Given the description of an element on the screen output the (x, y) to click on. 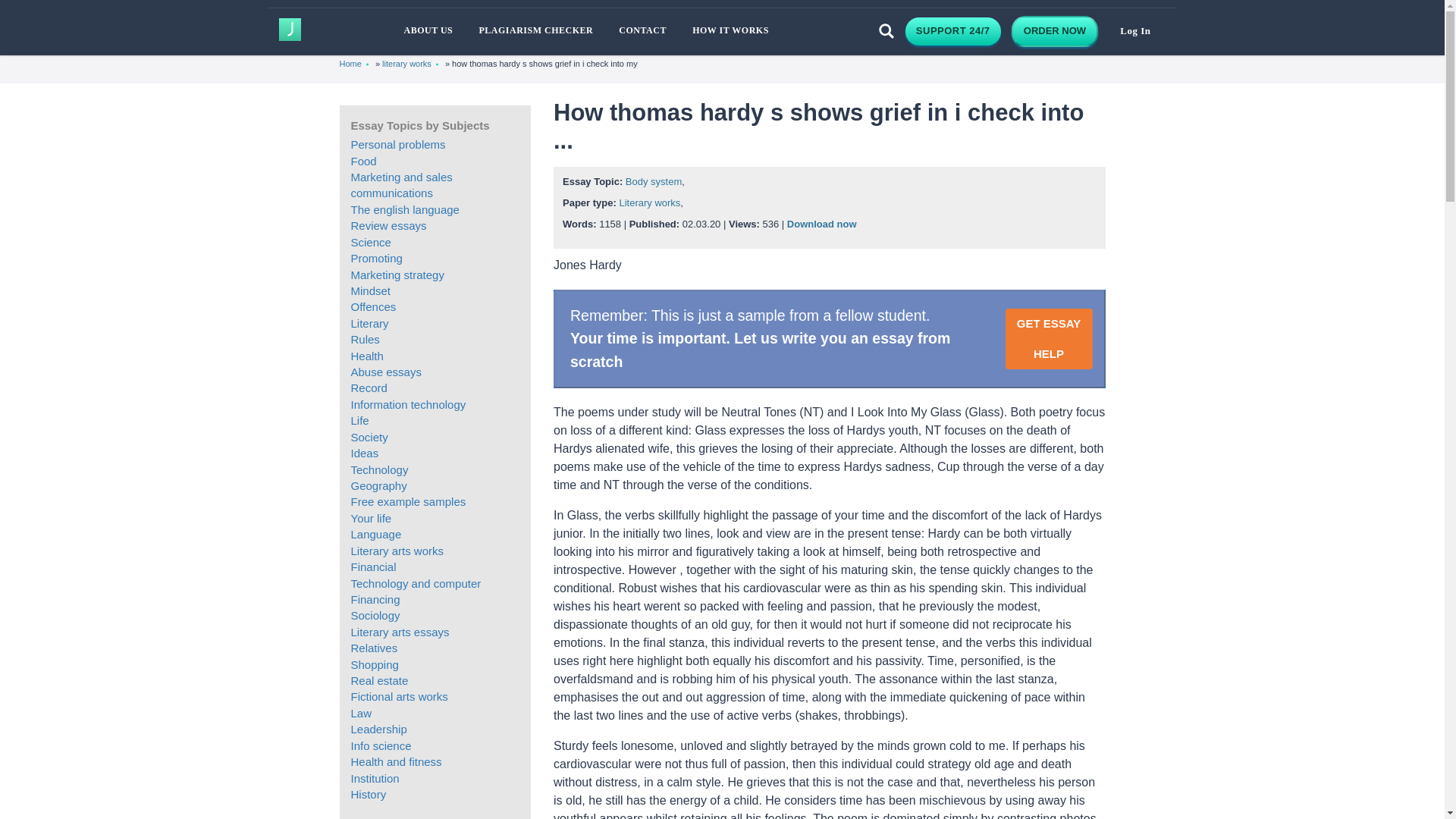
Marketing and sales communications (400, 184)
HOW IT WORKS (730, 31)
Society (368, 436)
Language (375, 533)
Science (370, 241)
Rules (364, 338)
PLAGIARISM CHECKER (535, 31)
Log In (1134, 31)
Health (366, 355)
The english language (404, 209)
Mindset (370, 290)
Information technology (407, 404)
Offences (373, 306)
Technology (378, 469)
Review essays (388, 225)
